Given the description of an element on the screen output the (x, y) to click on. 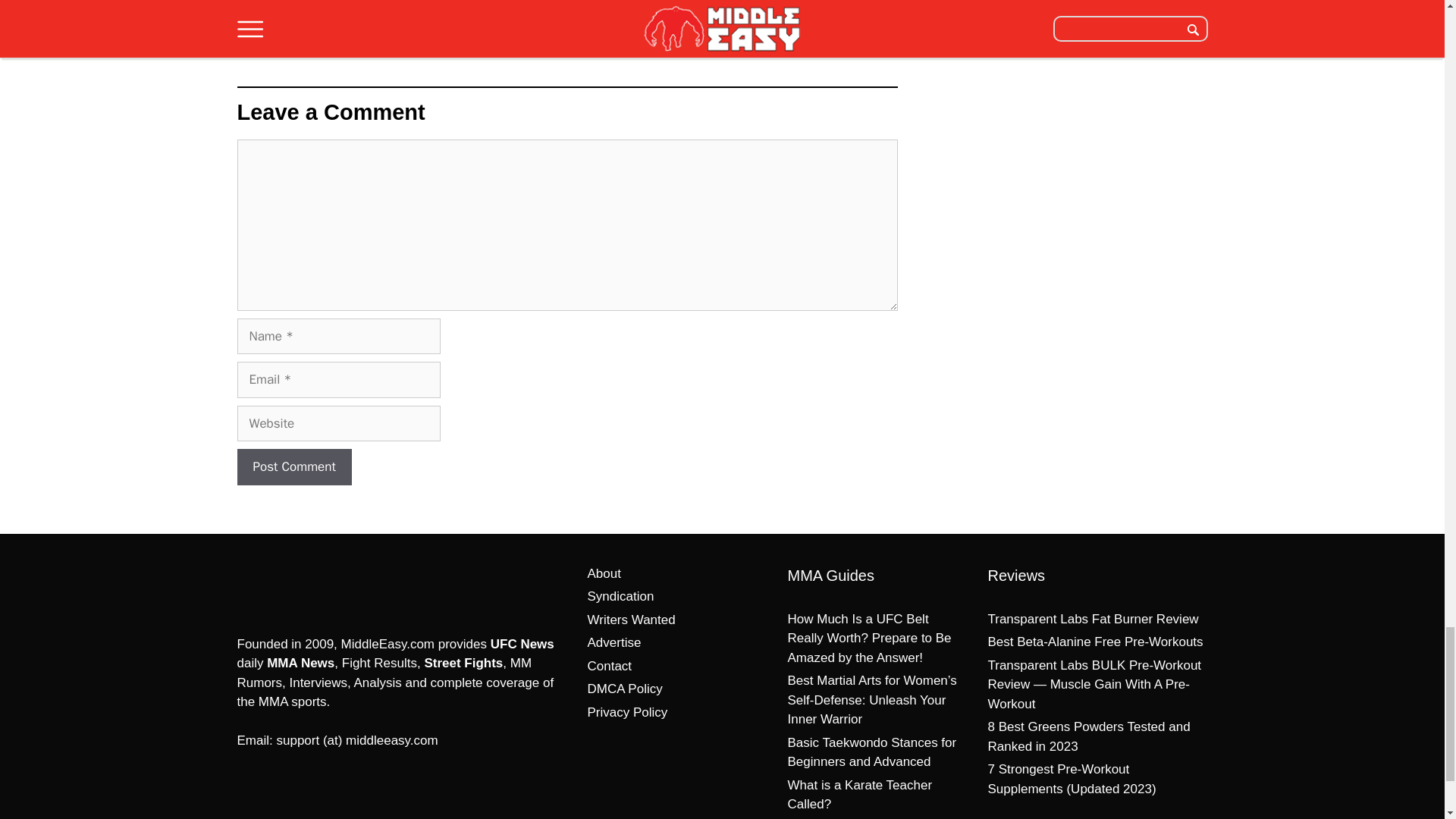
Post Comment (292, 466)
MiddlEeasy: MMA News (314, 586)
